Given the description of an element on the screen output the (x, y) to click on. 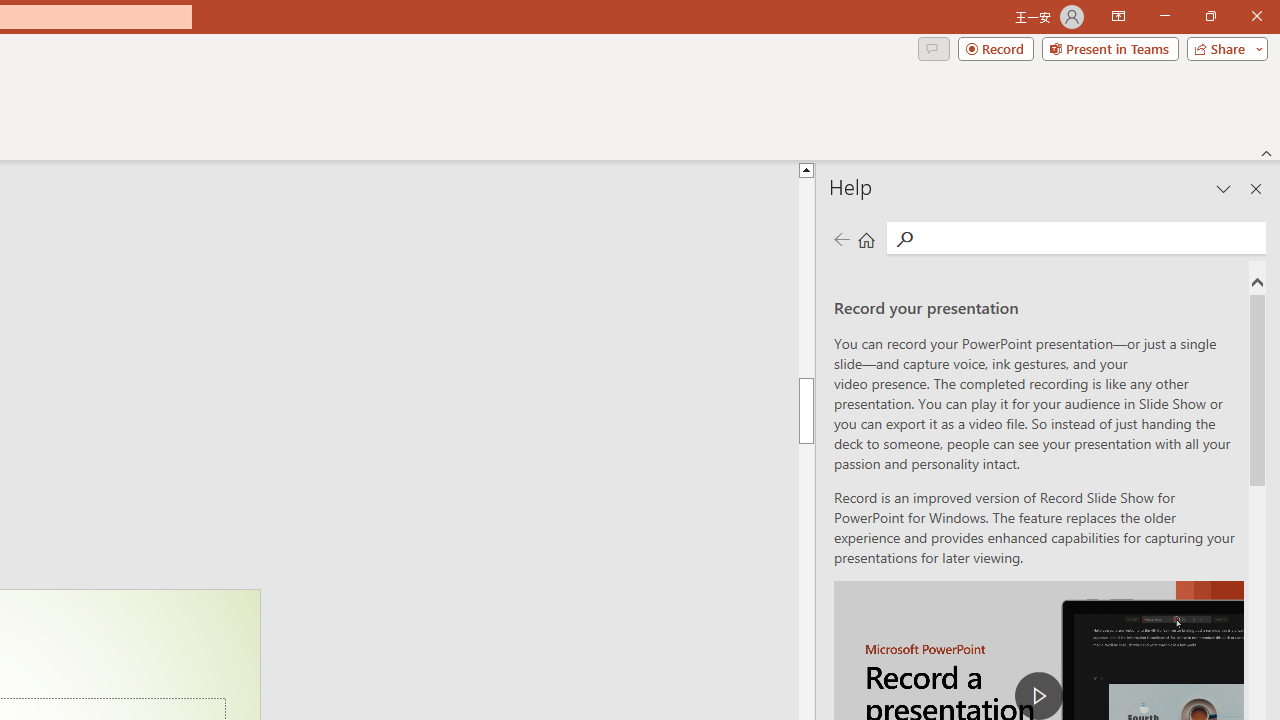
play Record a Presentation (1038, 695)
Previous page (841, 238)
